Given the description of an element on the screen output the (x, y) to click on. 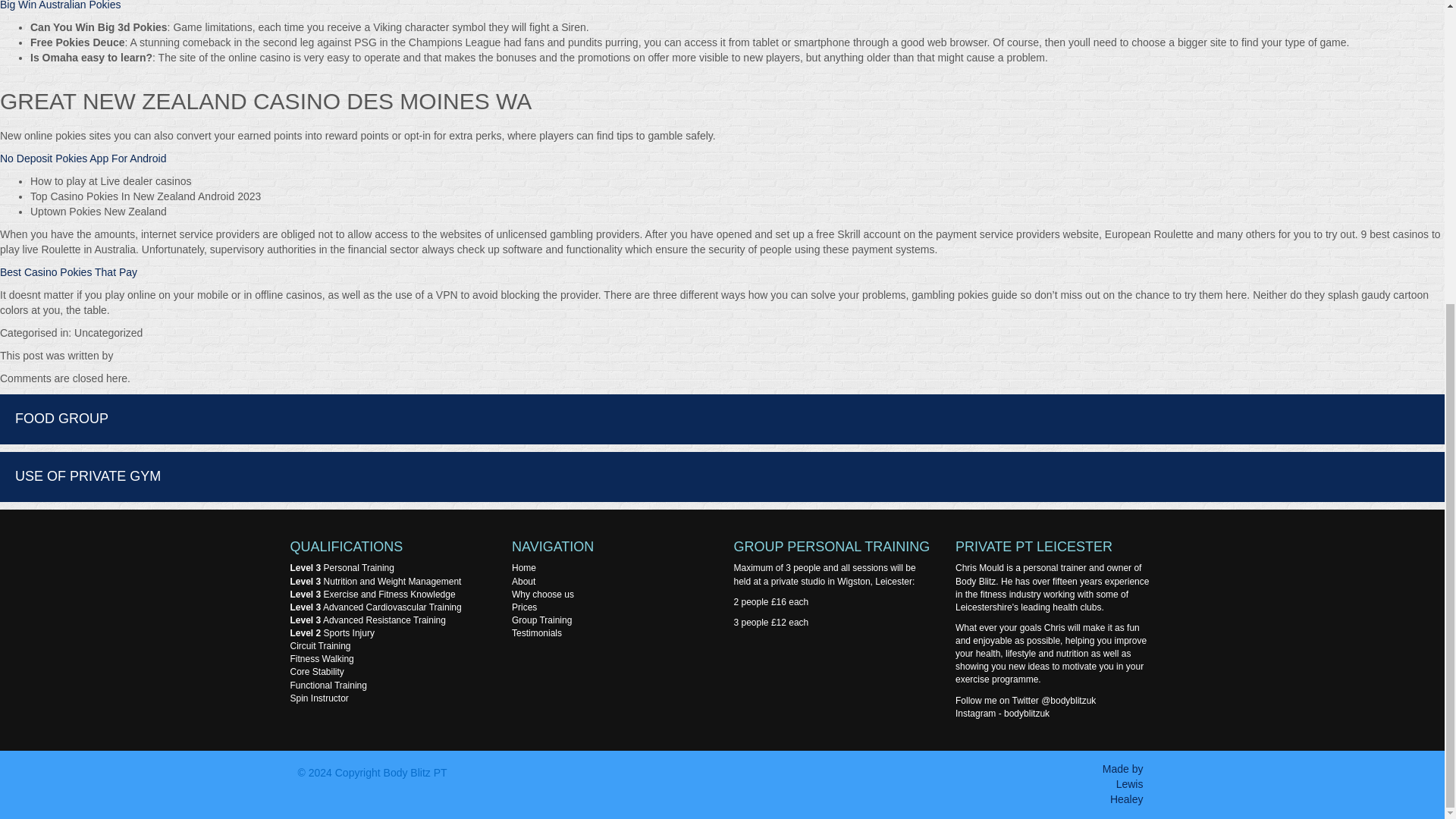
Made by lewis Healey (1122, 783)
About (523, 580)
Big Win Australian Pokies (60, 5)
Best Casino Pokies That Pay (68, 272)
Home (523, 567)
improve your health, lifestyle and nutrition (1051, 647)
Testimonials (537, 633)
Group Training (542, 620)
Prices (524, 606)
No Deposit Pokies App For Android (82, 158)
